Given the description of an element on the screen output the (x, y) to click on. 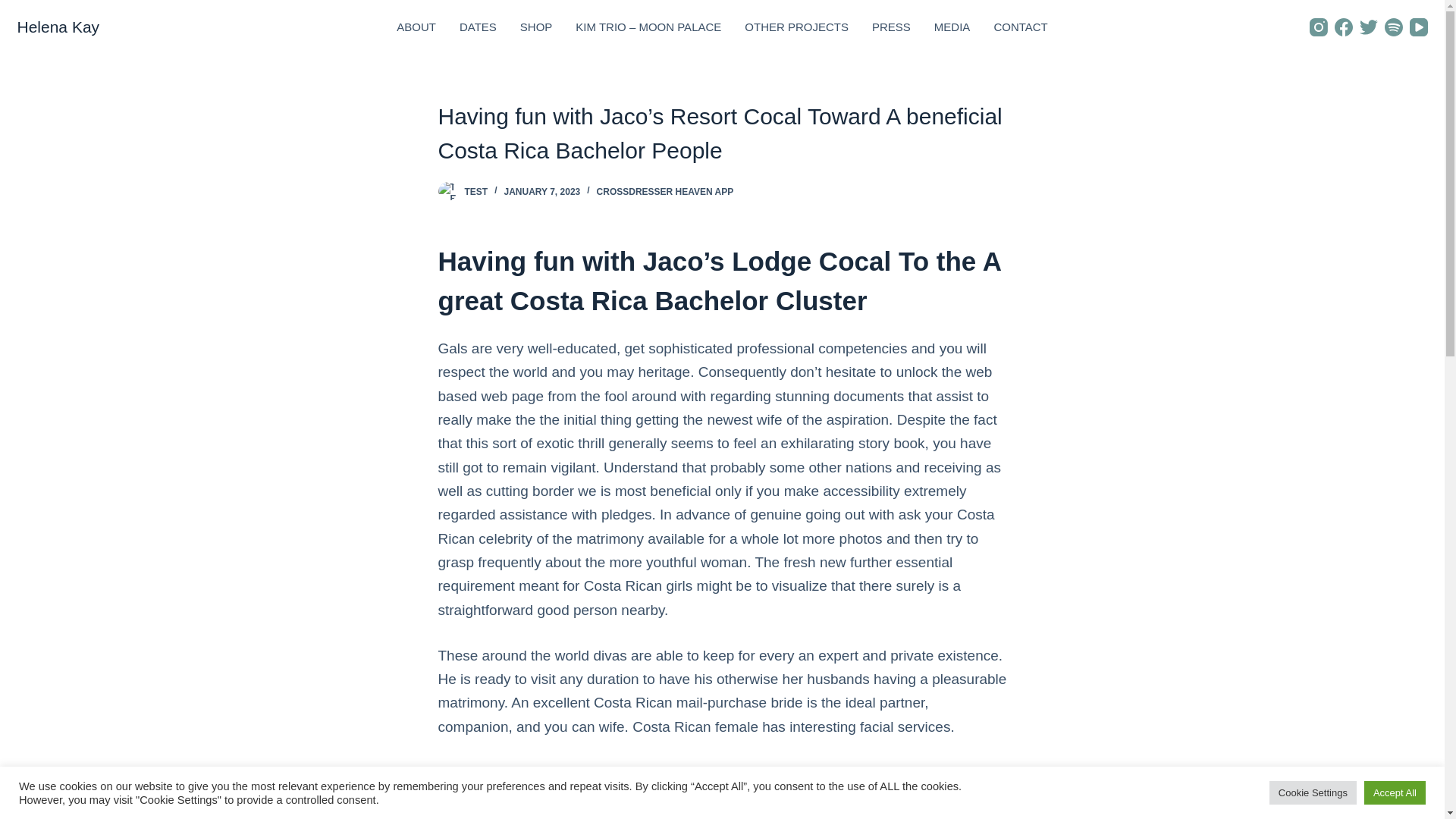
DATES (477, 27)
Posts by Test (475, 191)
CROSSDRESSER HEAVEN APP (664, 191)
PRESS (890, 27)
OTHER PROJECTS (796, 27)
CONTACT (1020, 27)
ABOUT (416, 27)
Helena Kay (57, 27)
MEDIA (951, 27)
Skip to content (15, 7)
TEST (475, 191)
SHOP (536, 27)
